Given the description of an element on the screen output the (x, y) to click on. 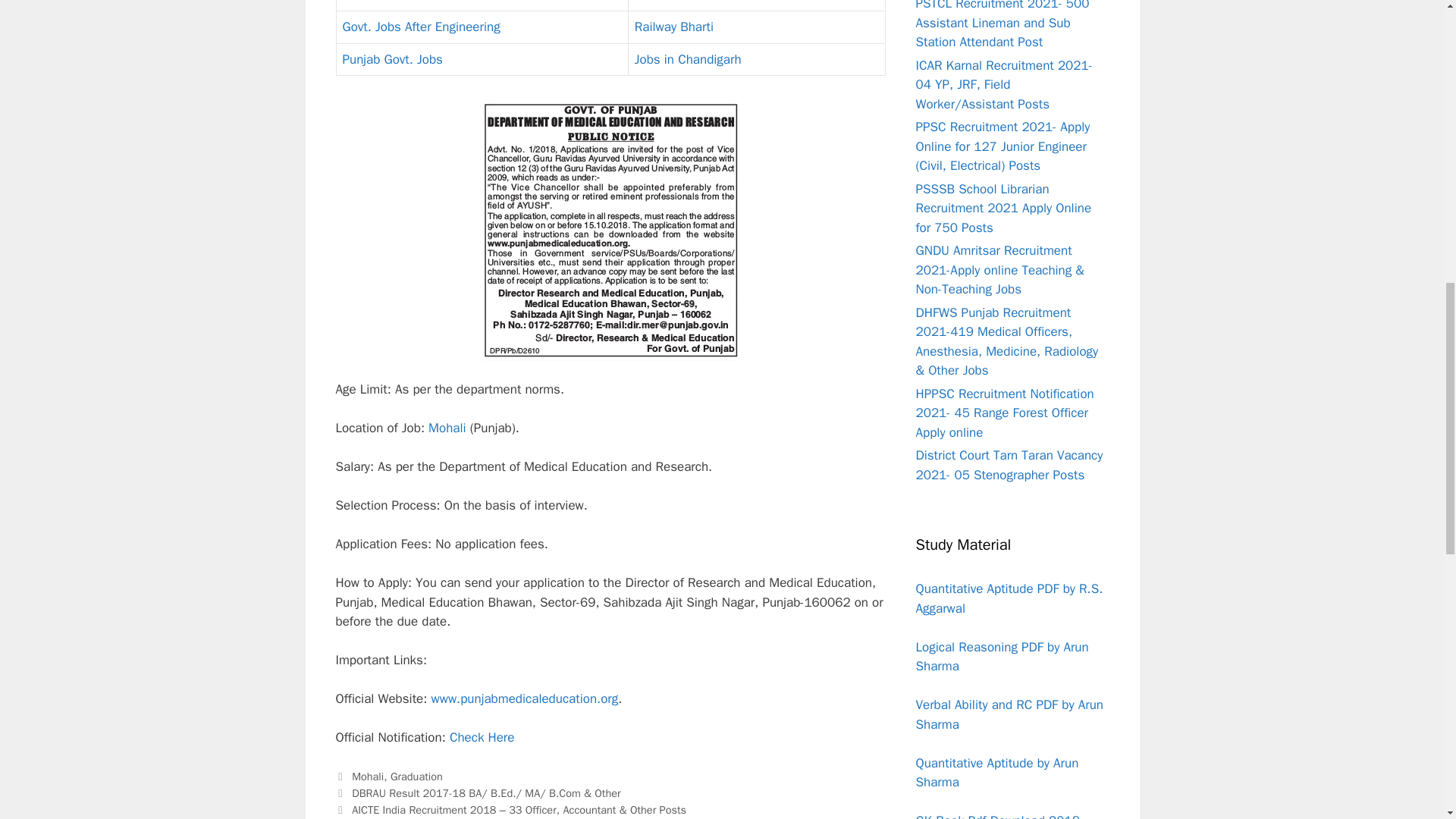
Graduation (664, 1)
Scroll back to top (1406, 720)
Graduation (416, 775)
Check Here (482, 737)
Punjab Govt. Jobs (392, 59)
Jobs in Chandigarh (687, 59)
Mohali (446, 427)
www.punjabmedicaleducation.org (523, 698)
Govt. Jobs After Engineering (421, 26)
Bank Recruitment (392, 1)
Mohali (368, 775)
Railway Bharti (673, 26)
